Given the description of an element on the screen output the (x, y) to click on. 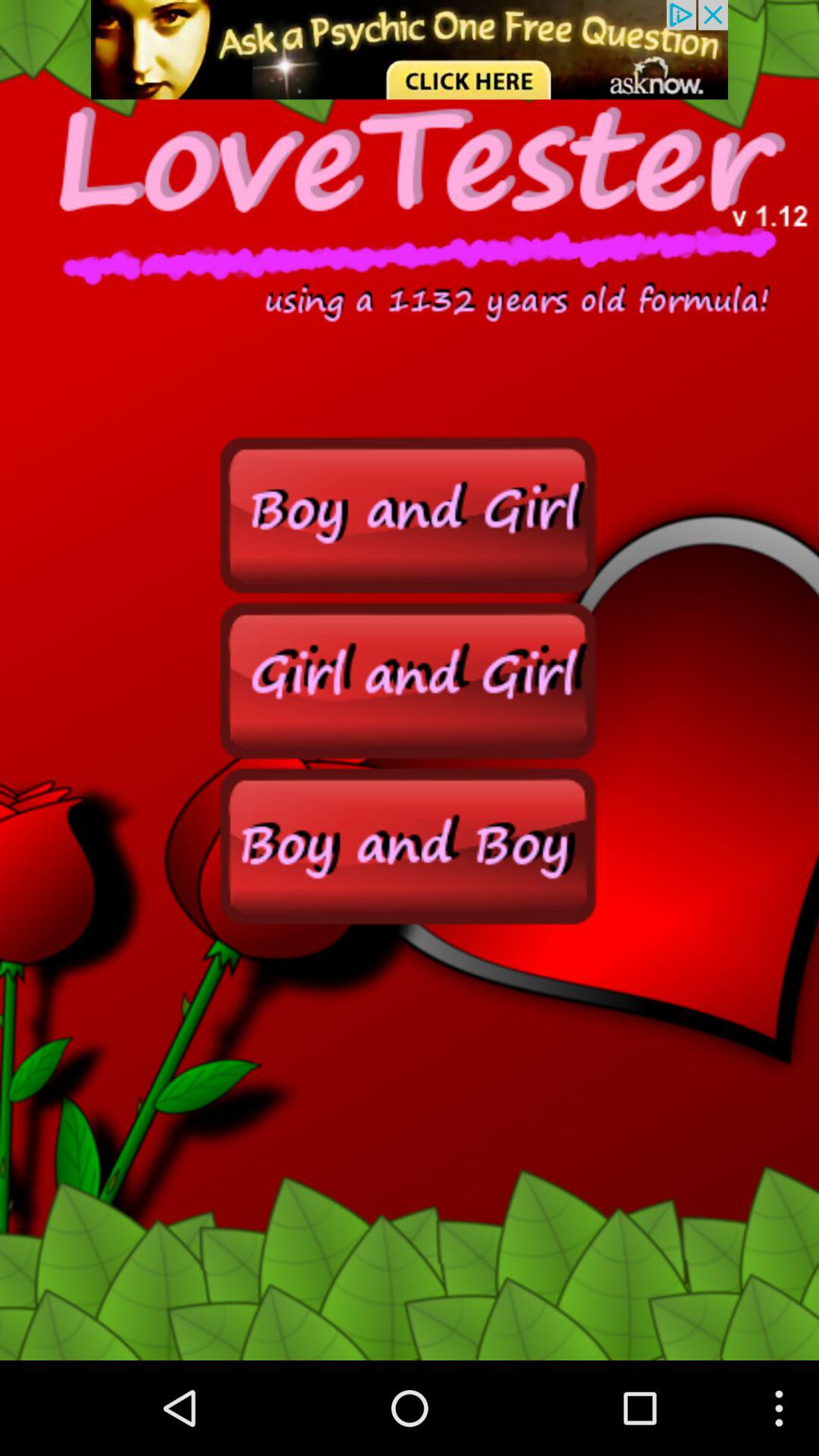
search for girls (409, 679)
